Given the description of an element on the screen output the (x, y) to click on. 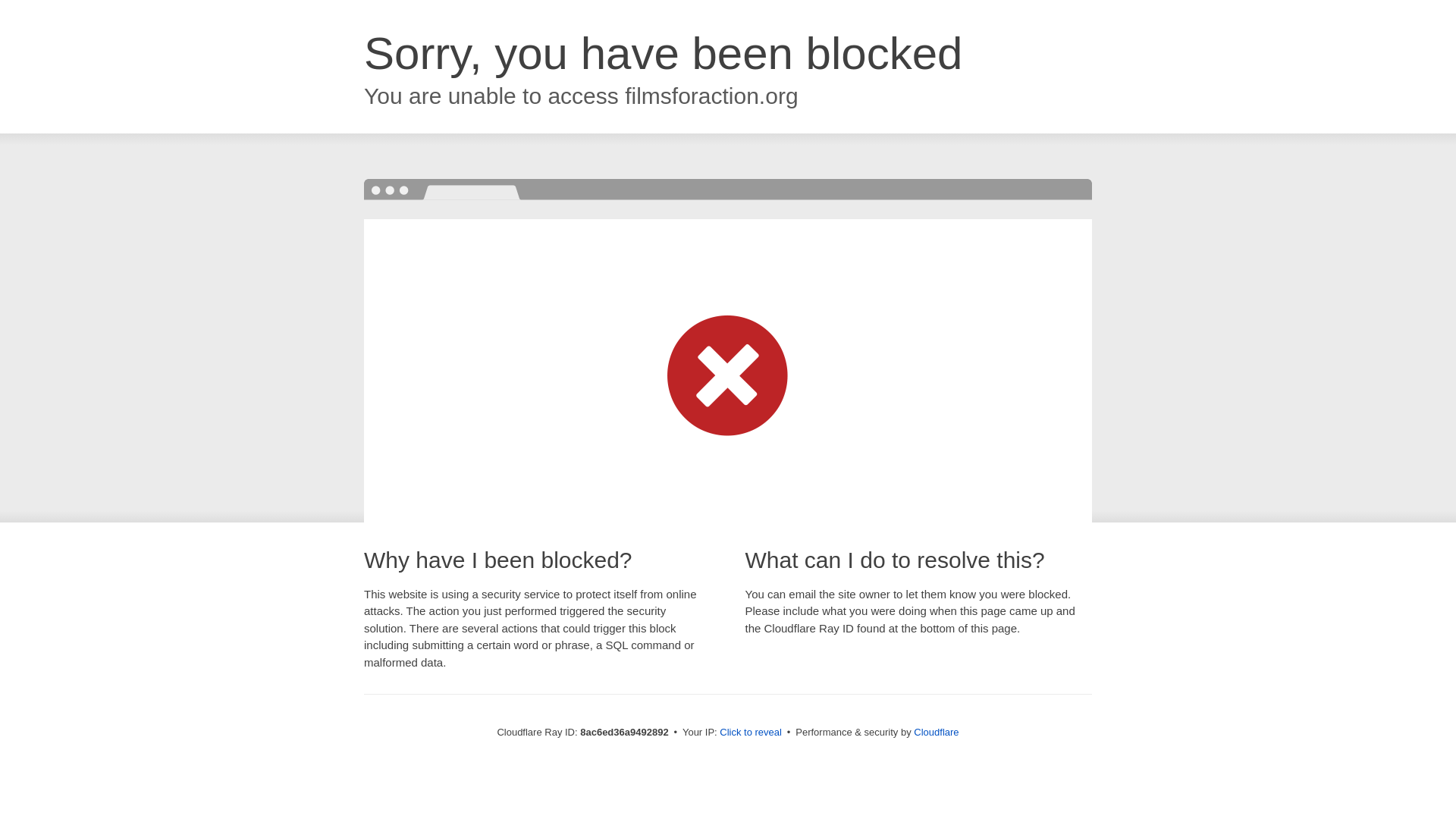
Click to reveal (750, 732)
Cloudflare (936, 731)
